Given the description of an element on the screen output the (x, y) to click on. 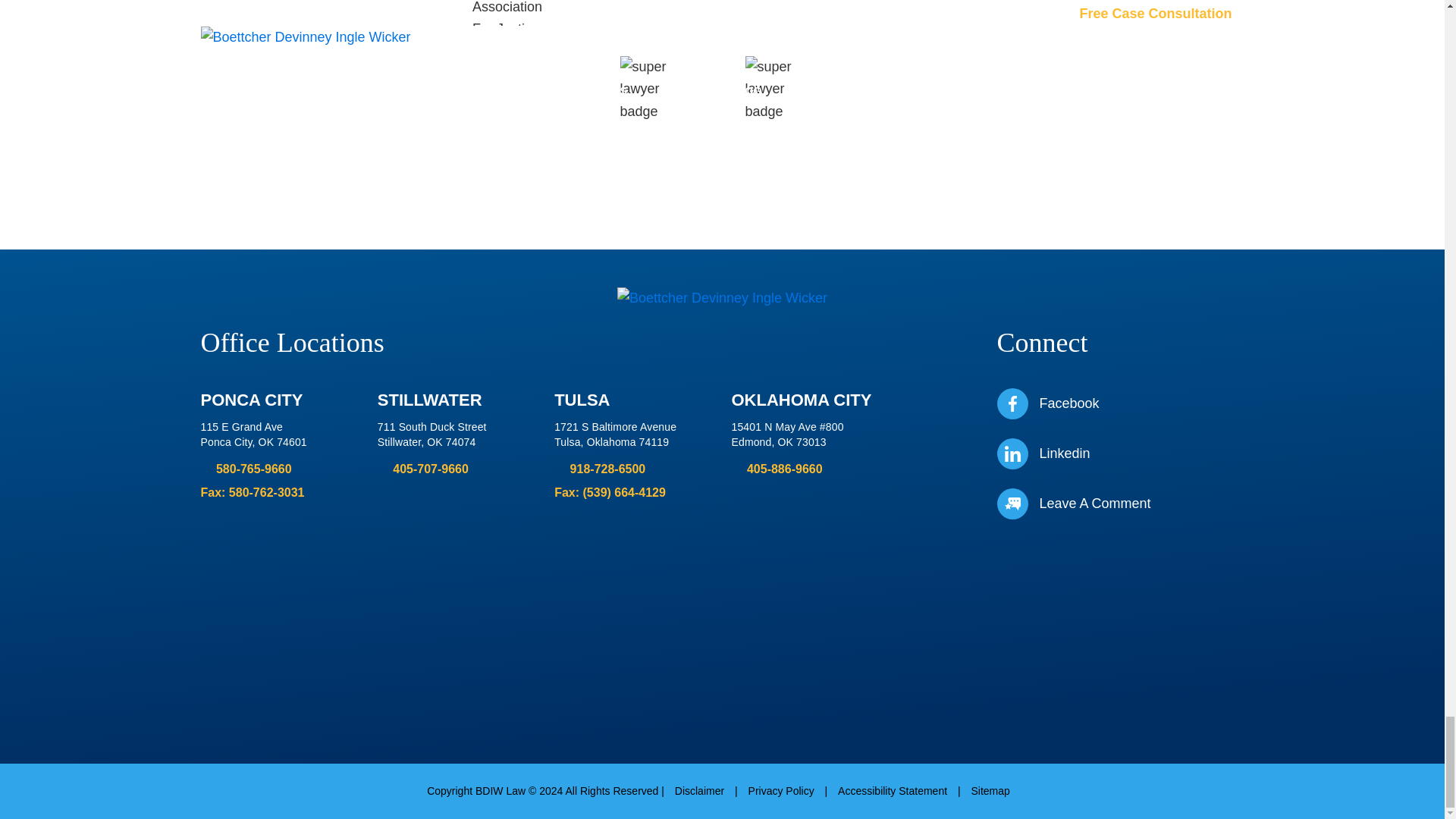
super lawyer badge (1131, 12)
AV Preeminent (679, 12)
super lawyer badge (660, 95)
Oklahoma Association For Justice (508, 12)
Boettcher Devinney Ingle Wicker (722, 298)
American Association For Justice (920, 12)
super lawyer badge (784, 95)
Super Lawyers (341, 6)
